Given the description of an element on the screen output the (x, y) to click on. 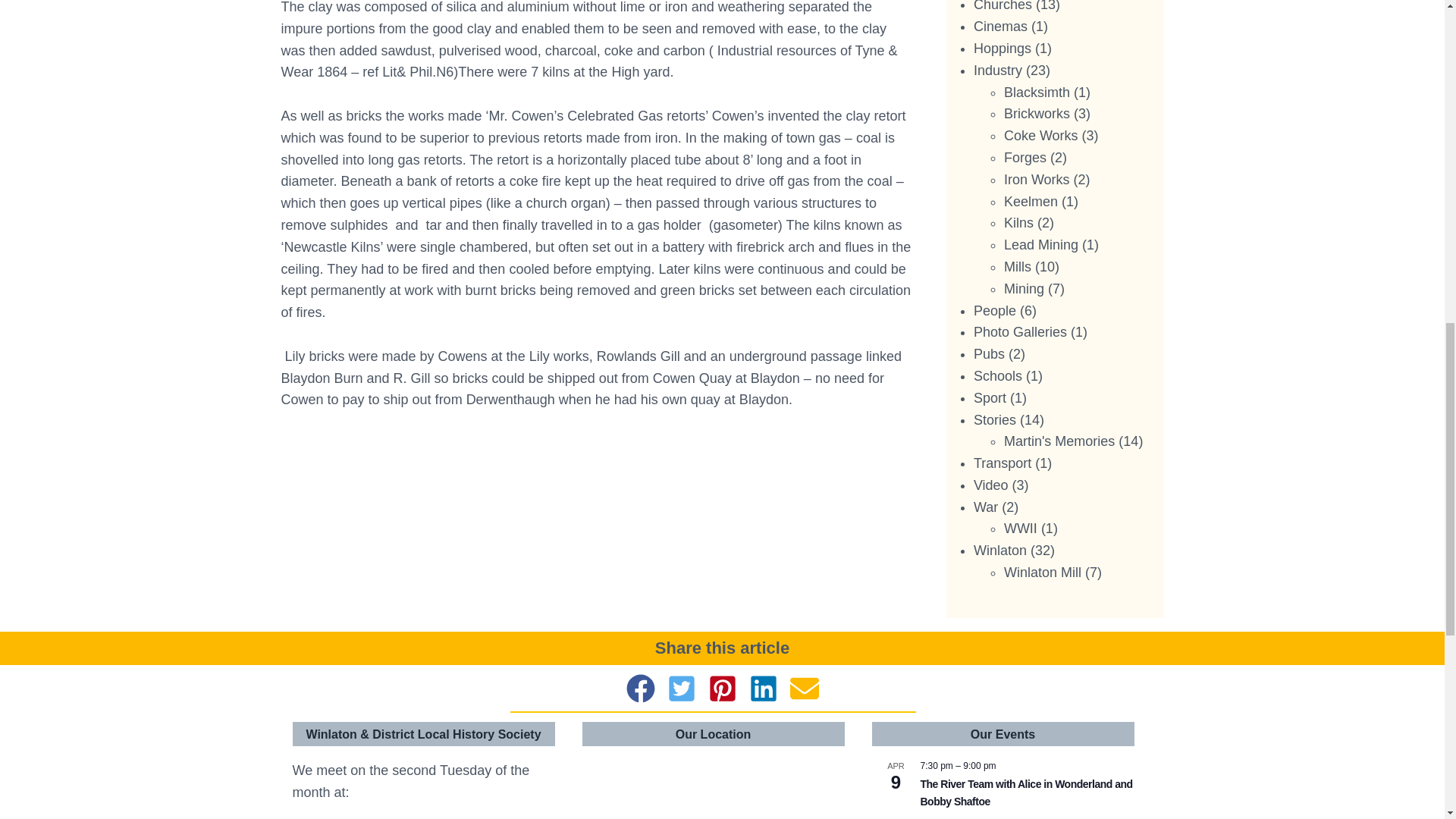
Churches (1003, 6)
Industry (998, 70)
Cinemas (1000, 26)
Coke Works (1041, 135)
The River Team with Alice in Wonderland and Bobby Shaftoe (1026, 793)
Hoppings (1002, 48)
Blacksimth (1037, 92)
Brickworks (1037, 113)
Forges (1025, 157)
Kilns (1018, 222)
Iron Works (1037, 179)
Google Map for  (713, 785)
Keelmen (1031, 201)
